Given the description of an element on the screen output the (x, y) to click on. 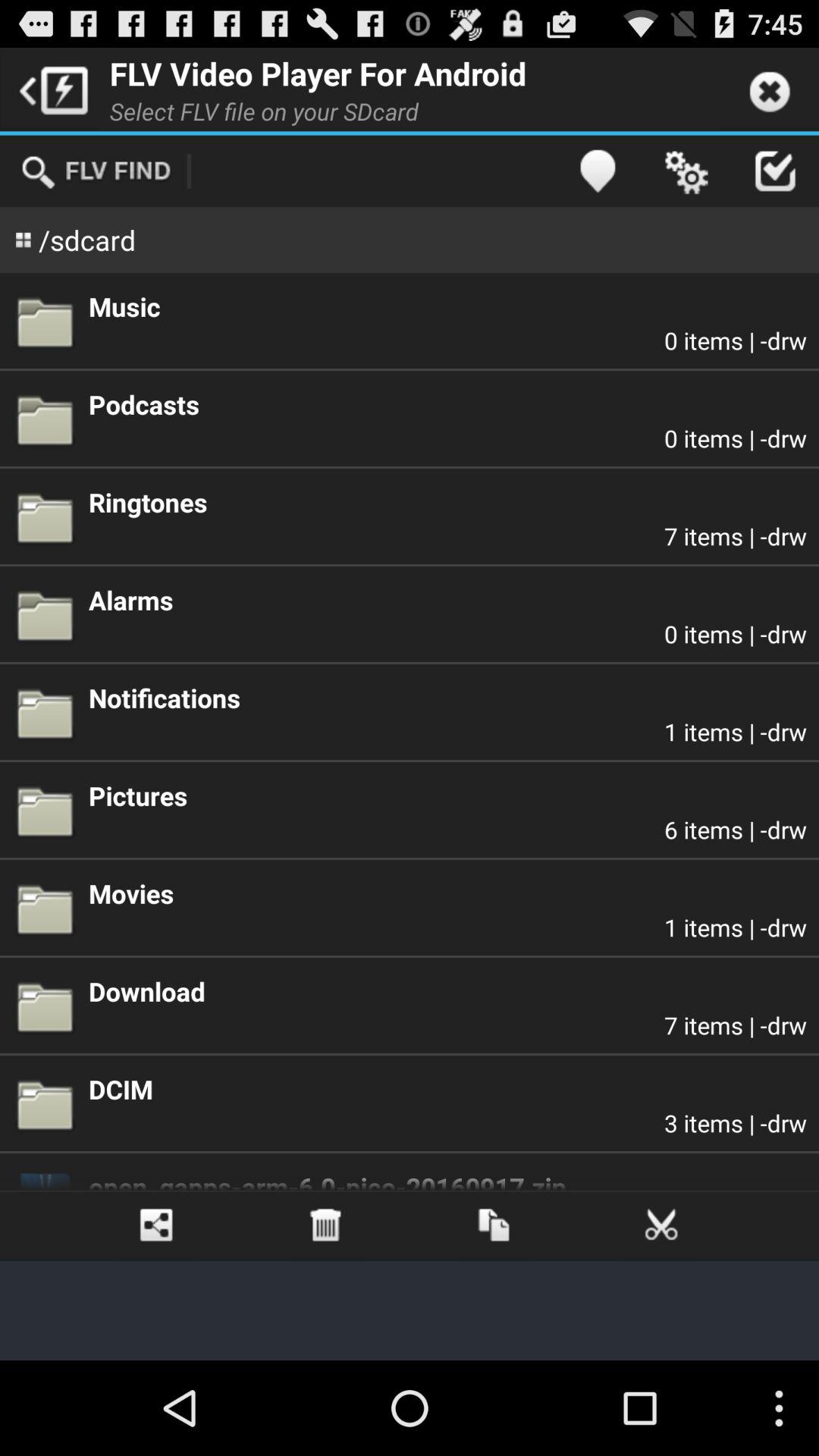
jump until open_gapps arm 6 app (447, 1179)
